Given the description of an element on the screen output the (x, y) to click on. 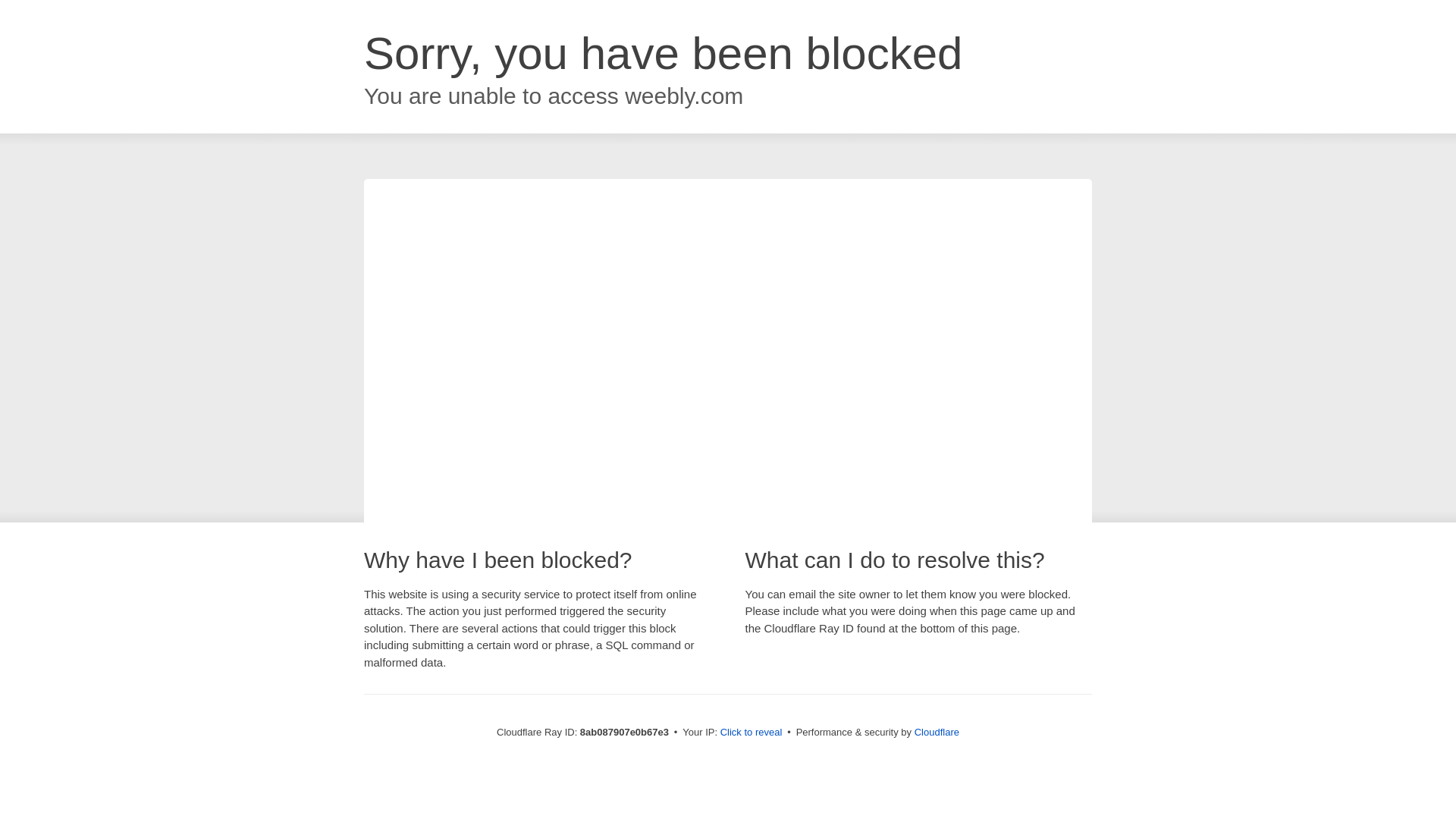
Click to reveal (751, 732)
Cloudflare (936, 731)
